Given the description of an element on the screen output the (x, y) to click on. 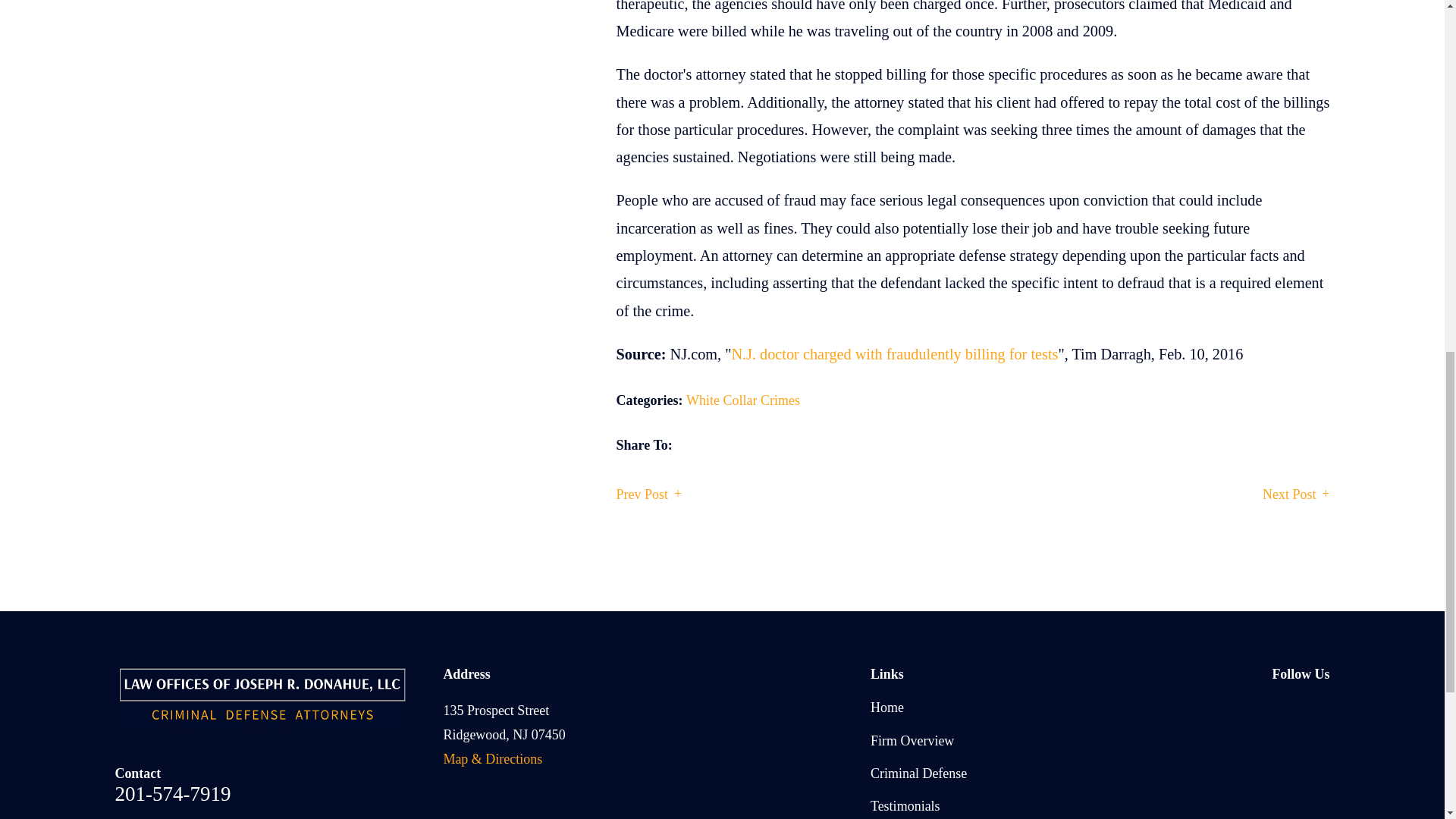
Home (267, 696)
Law Offices of Joseph R. Donahue, LLC (262, 696)
Google Business Profile (1280, 707)
